Given the description of an element on the screen output the (x, y) to click on. 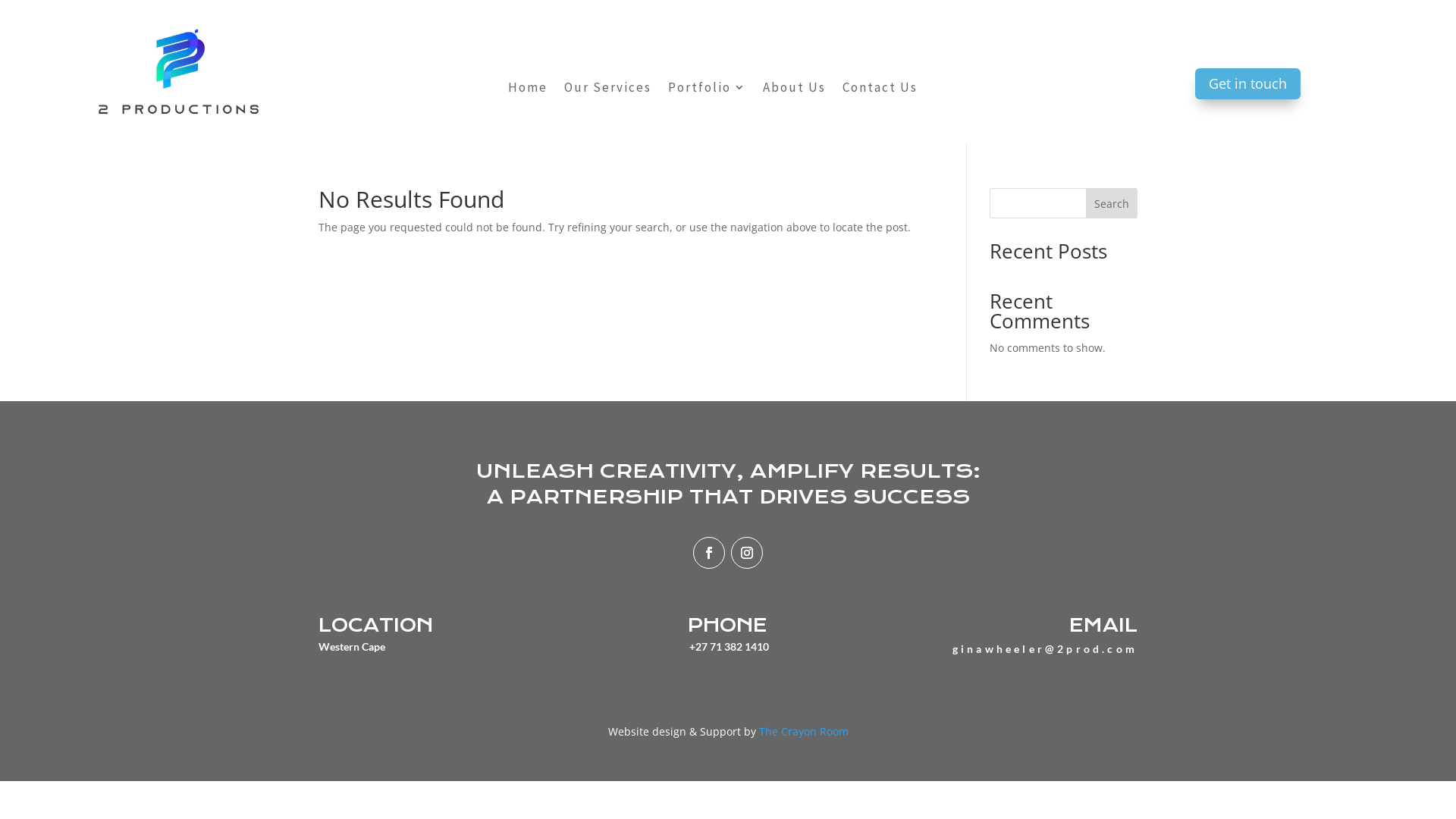
Our Services Element type: text (607, 89)
Follow on Facebook Element type: hover (708, 552)
Search Element type: text (1111, 203)
About Us Element type: text (793, 89)
Follow on Instagram Element type: hover (746, 552)
The Crayon Room Element type: text (802, 731)
2-productions-cape-town-film-production-services Element type: hover (178, 71)
Portfolio Element type: text (707, 89)
Contact Us Element type: text (879, 89)
Home Element type: text (527, 89)
Get in touch Element type: text (1247, 83)
